Given the description of an element on the screen output the (x, y) to click on. 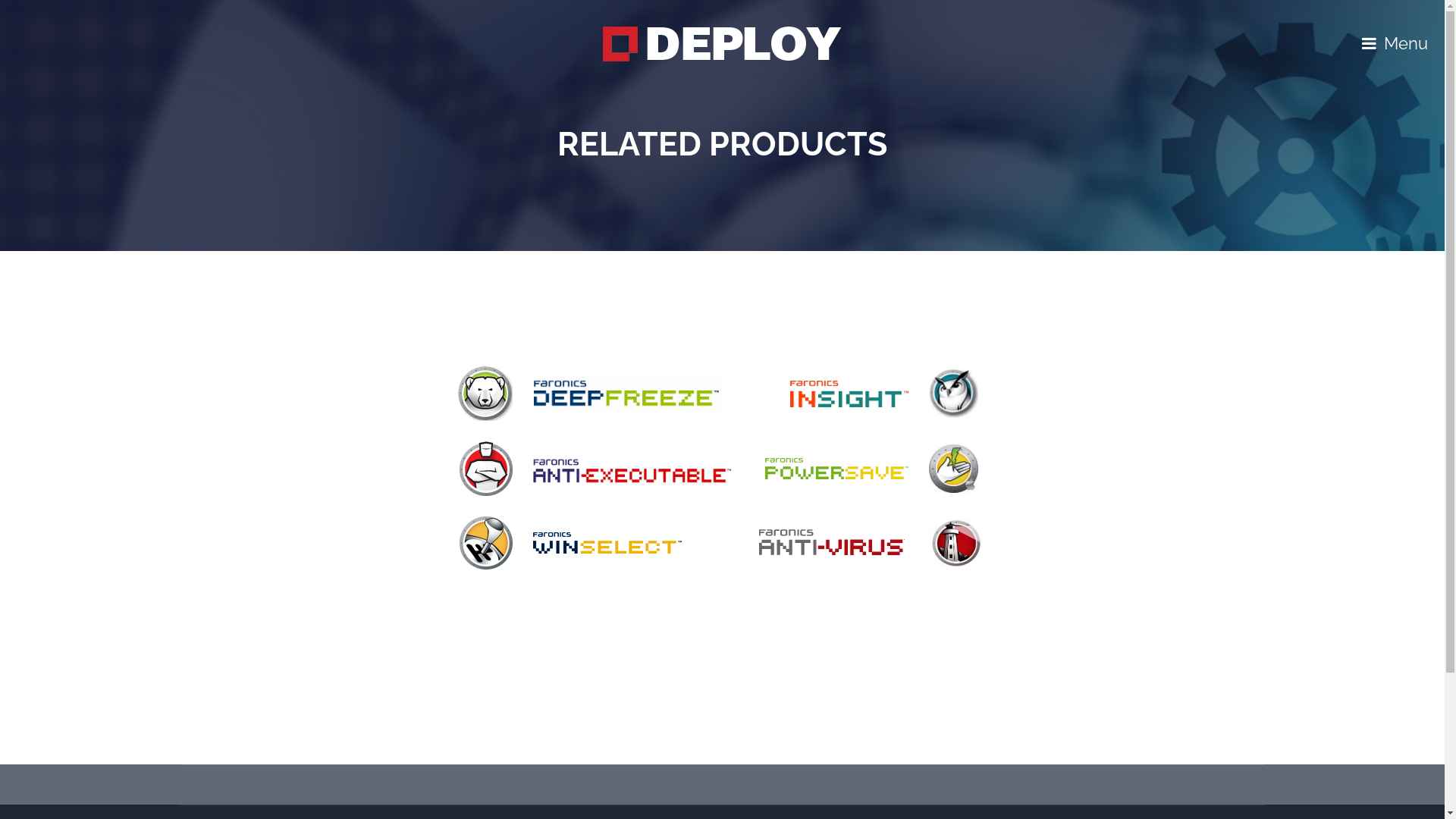
Menu Element type: text (1394, 43)
